Given the description of an element on the screen output the (x, y) to click on. 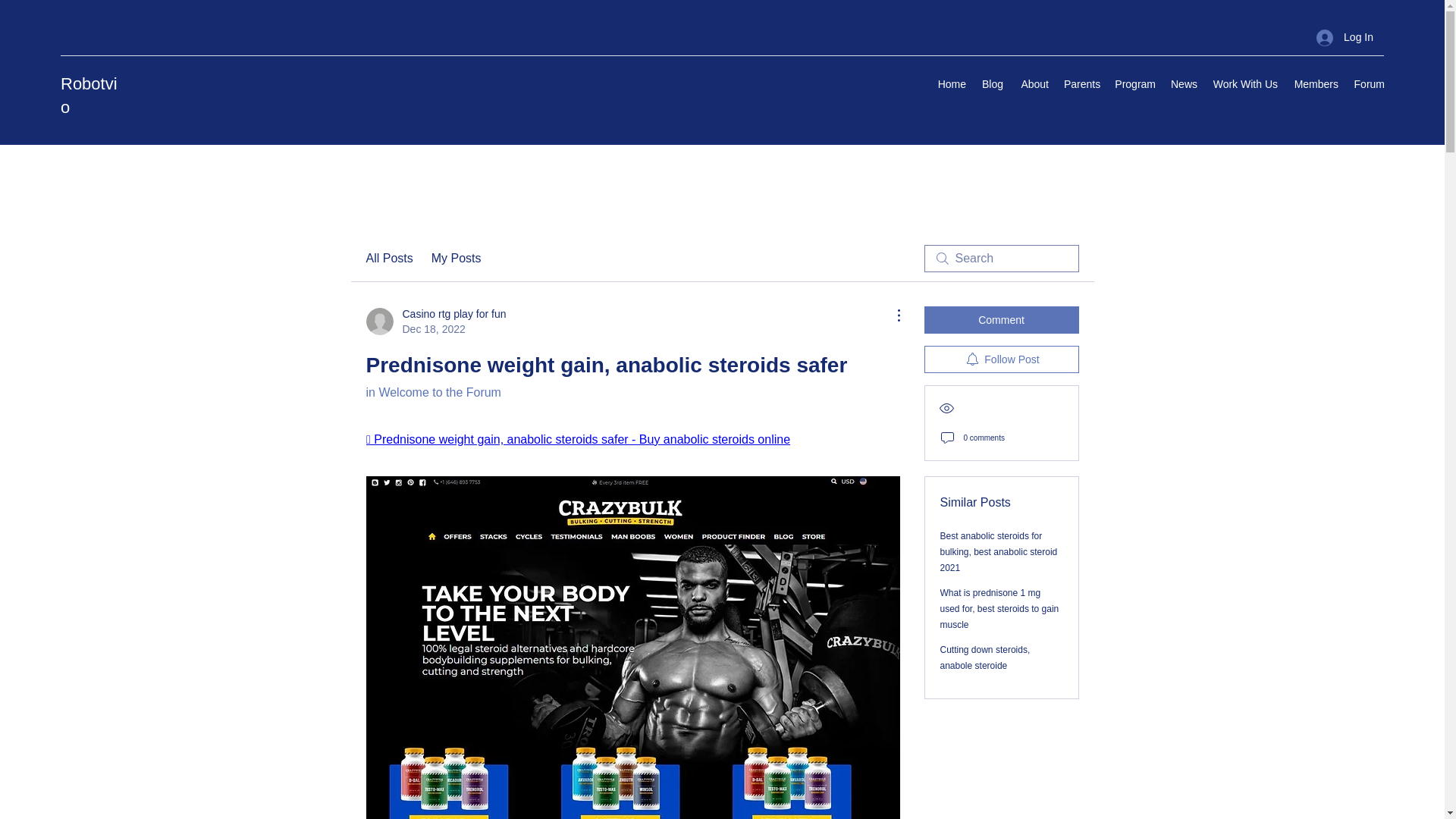
Parents (1081, 83)
Comment (1000, 319)
Forum (1368, 83)
Work With Us (1245, 83)
Follow Post (1000, 359)
Blog (992, 83)
My Posts (455, 258)
About (435, 321)
in Welcome to the Forum (1033, 83)
All Posts (432, 391)
Log In (388, 258)
Cutting down steroids, anabole steroide (1345, 37)
News (985, 657)
